Given the description of an element on the screen output the (x, y) to click on. 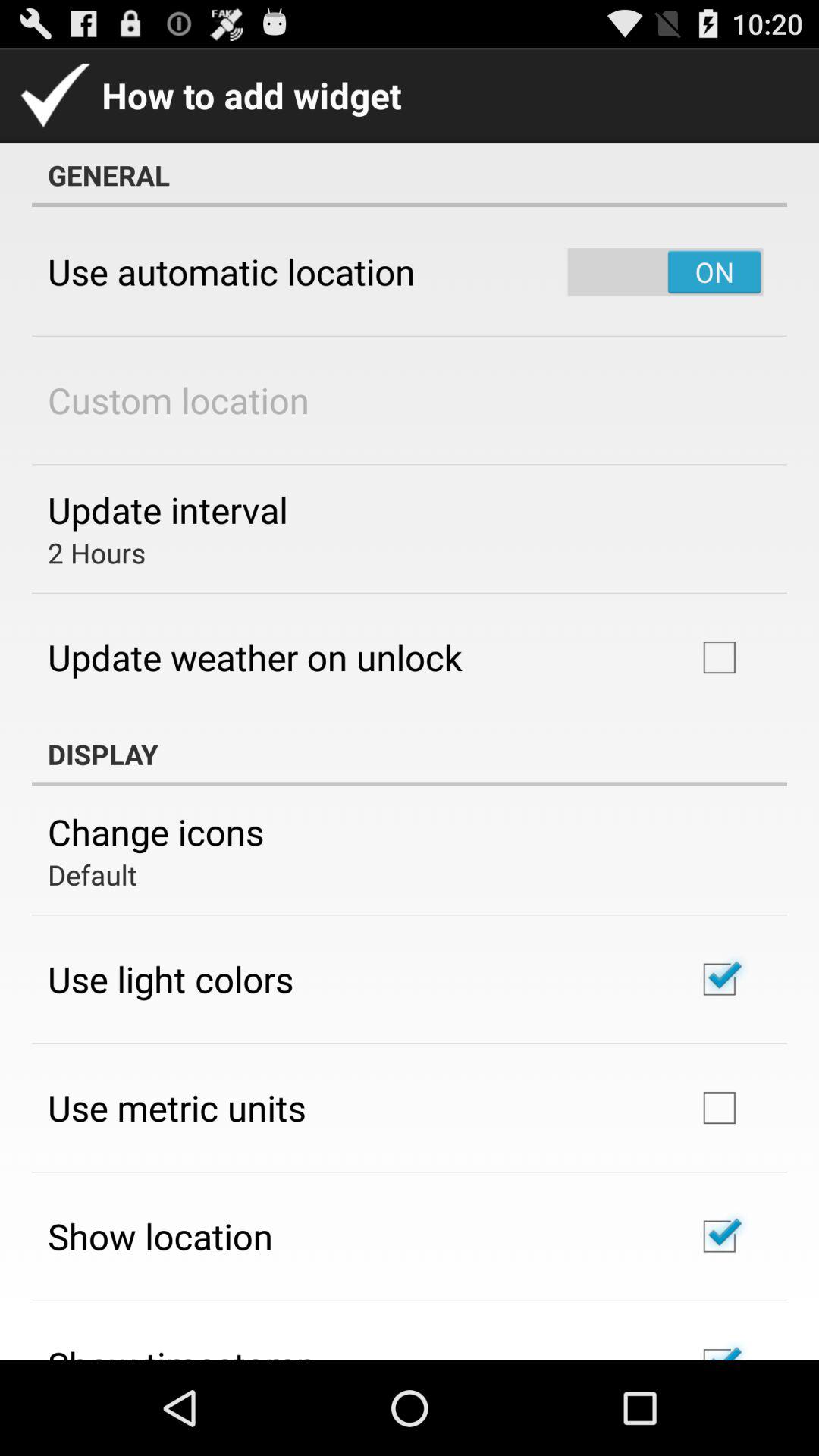
press show timestamp app (181, 1350)
